Given the description of an element on the screen output the (x, y) to click on. 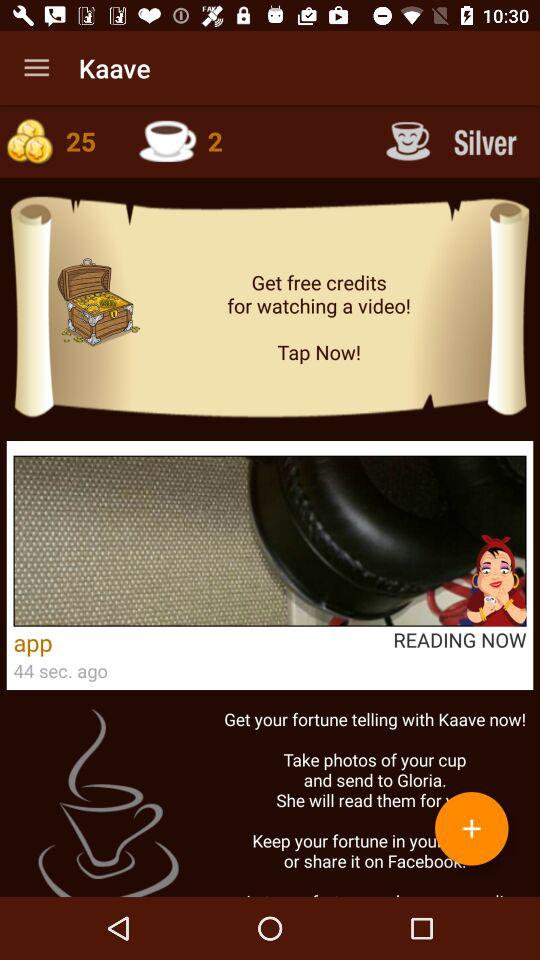
turn on item next to the kaave app (36, 68)
